Given the description of an element on the screen output the (x, y) to click on. 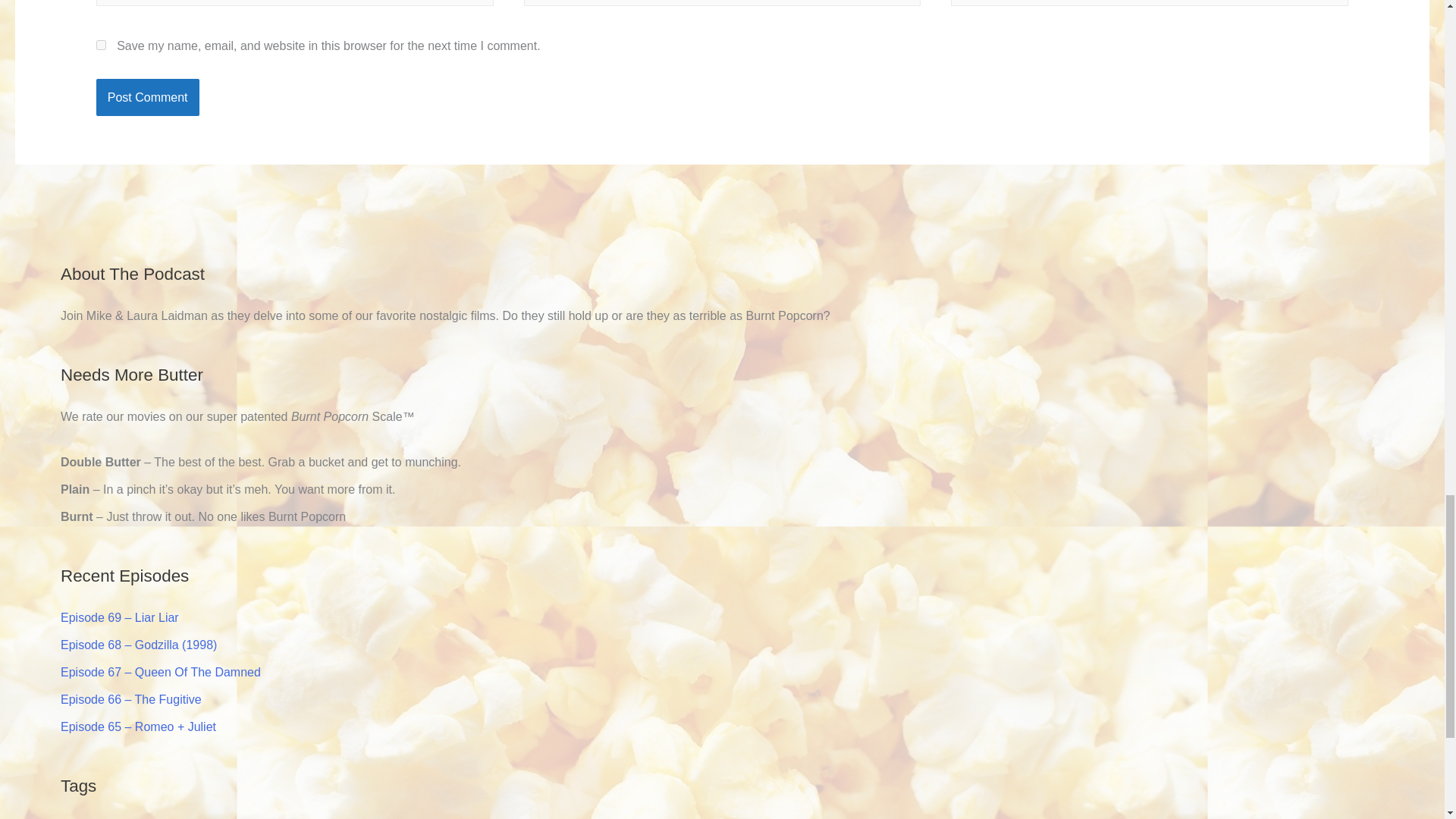
Post Comment (147, 97)
yes (101, 44)
Post Comment (147, 97)
